Given the description of an element on the screen output the (x, y) to click on. 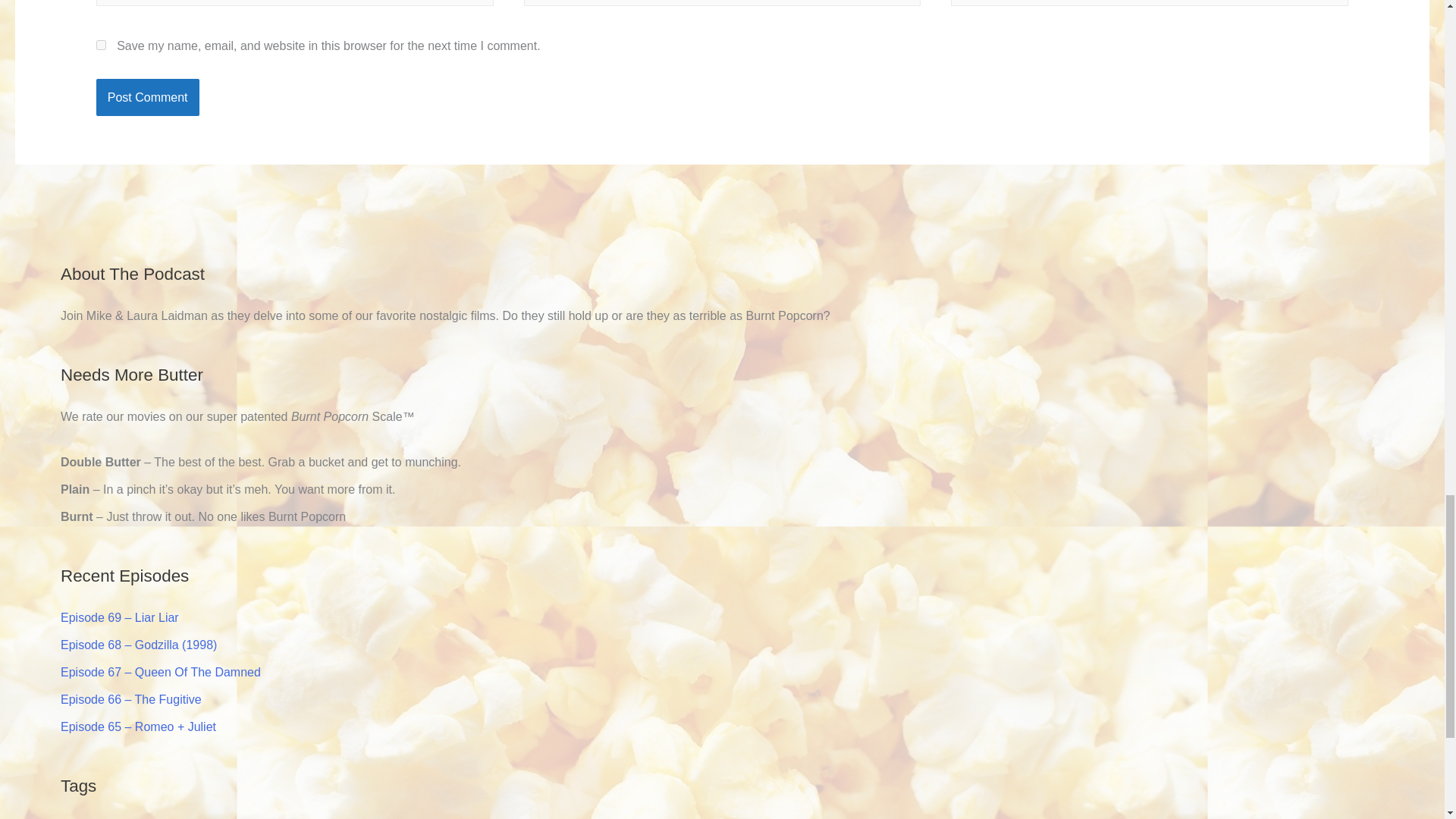
Post Comment (147, 97)
yes (101, 44)
Post Comment (147, 97)
